Given the description of an element on the screen output the (x, y) to click on. 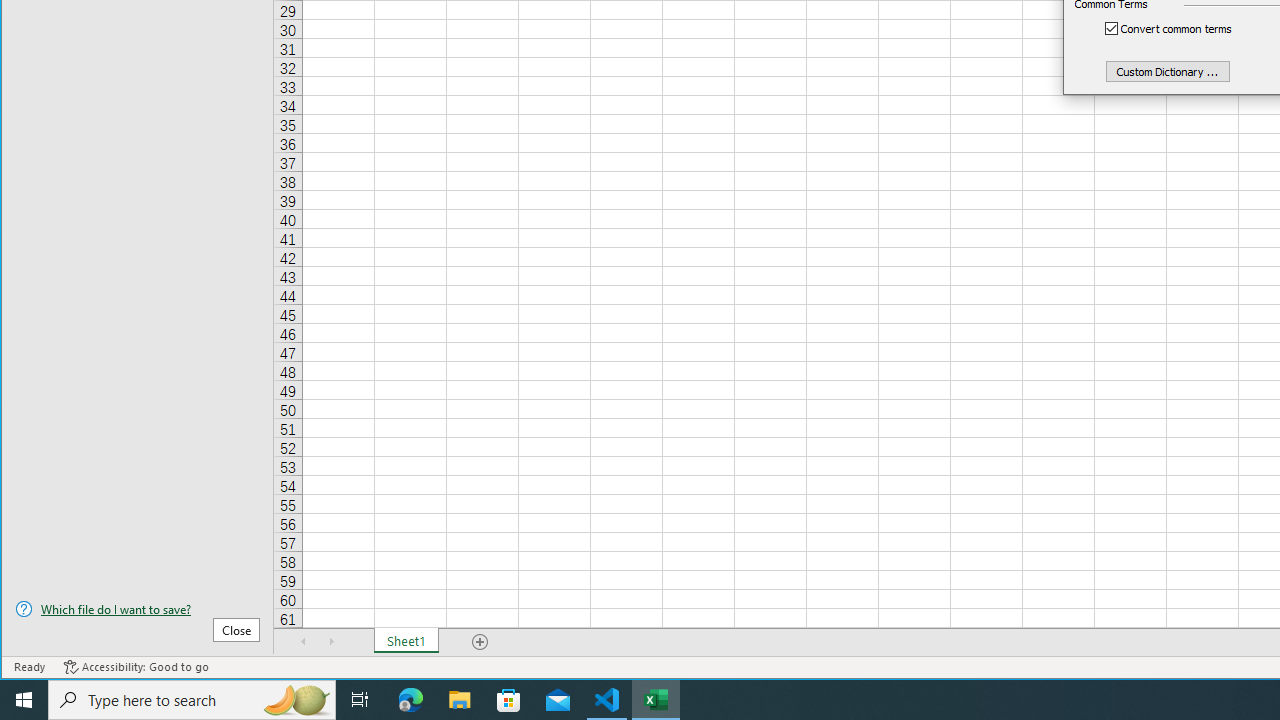
Convert common terms (1179, 28)
Visual Studio Code - 1 running window (607, 699)
Search highlights icon opens search home window (295, 699)
Which file do I want to save? (137, 609)
Task View (359, 699)
Start (24, 699)
File Explorer (460, 699)
Excel - 1 running window (656, 699)
Microsoft Store (509, 699)
Custom Dictionary ... (1167, 70)
